Given the description of an element on the screen output the (x, y) to click on. 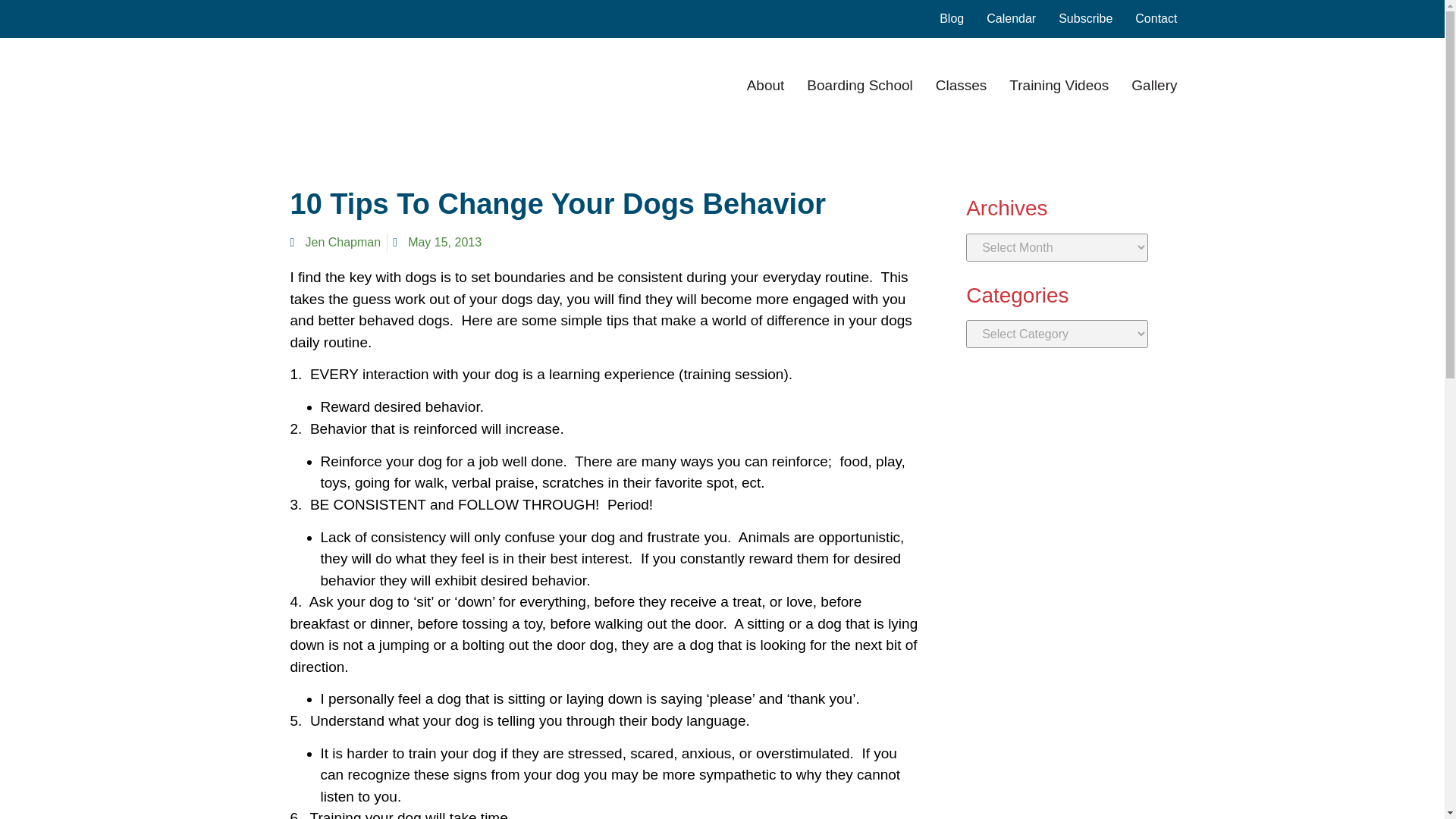
May 15, 2013 (437, 242)
Gallery (1153, 85)
About (765, 85)
Contact (1155, 18)
Boarding School (859, 85)
Calendar (1011, 18)
Jen Chapman (334, 242)
Classes (961, 85)
Training Videos (1058, 85)
Subscribe (1085, 18)
